Given the description of an element on the screen output the (x, y) to click on. 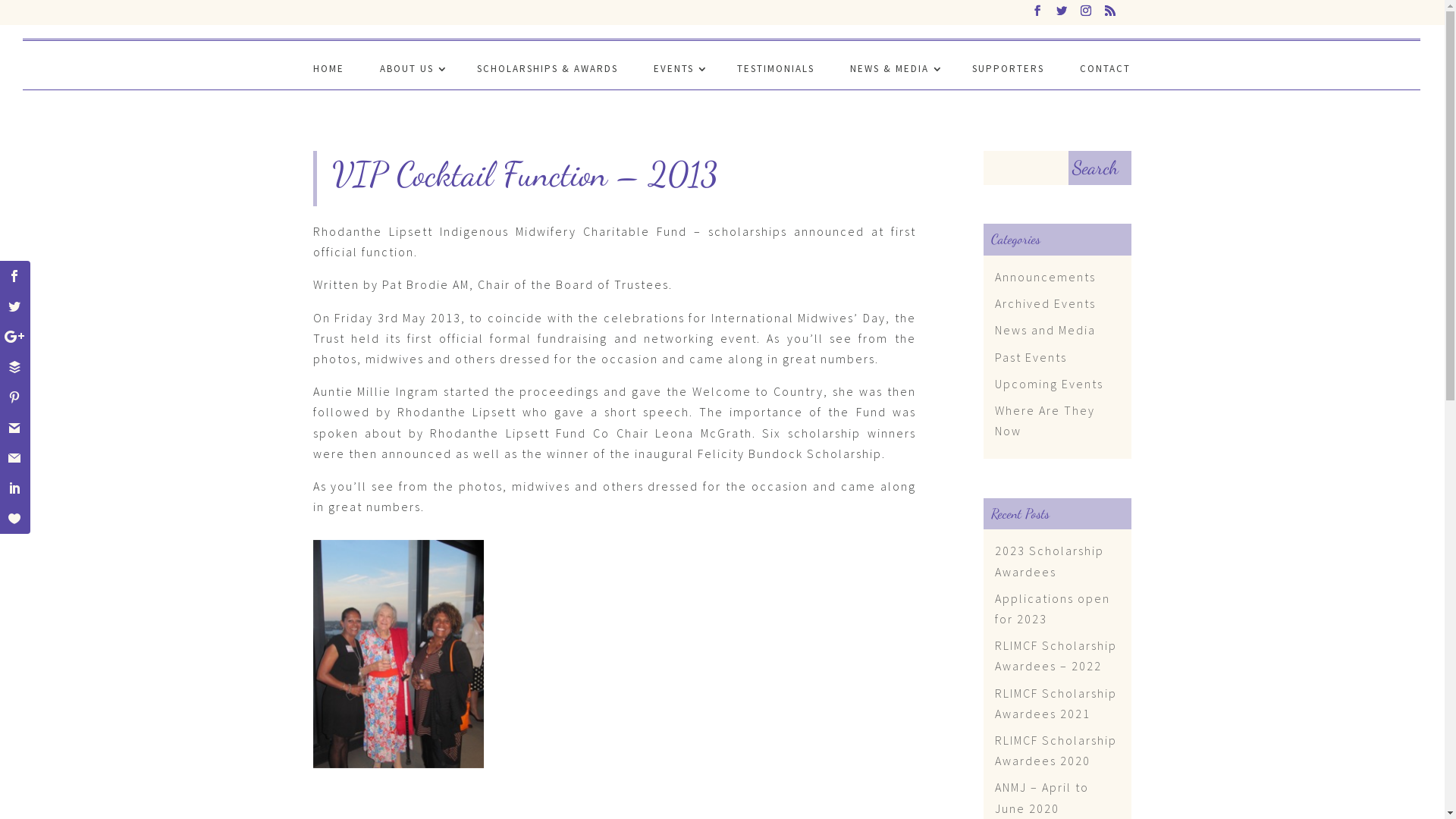
RLIMCF Scholarship Awardees 2021 Element type: text (1055, 703)
Where Are They Now Element type: text (1044, 420)
Applications open for 2023 Element type: text (1052, 608)
Archived Events Element type: text (1044, 302)
HOME Element type: text (327, 75)
2023 Scholarship Awardees Element type: text (1049, 560)
News and Media Element type: text (1044, 329)
Upcoming Events Element type: text (1048, 383)
Search Element type: text (1100, 167)
Past Events Element type: text (1030, 356)
SUPPORTERS Element type: text (1007, 75)
TESTIMONIALS Element type: text (775, 75)
CONTACT Element type: text (1105, 75)
NEWS & MEDIA Element type: text (892, 75)
Announcements Element type: text (1044, 276)
SCHOLARSHIPS & AWARDS Element type: text (546, 75)
ABOUT US Element type: text (409, 75)
EVENTS Element type: text (677, 75)
RLIMCF Scholarship Awardees 2020 Element type: text (1055, 750)
